Given the description of an element on the screen output the (x, y) to click on. 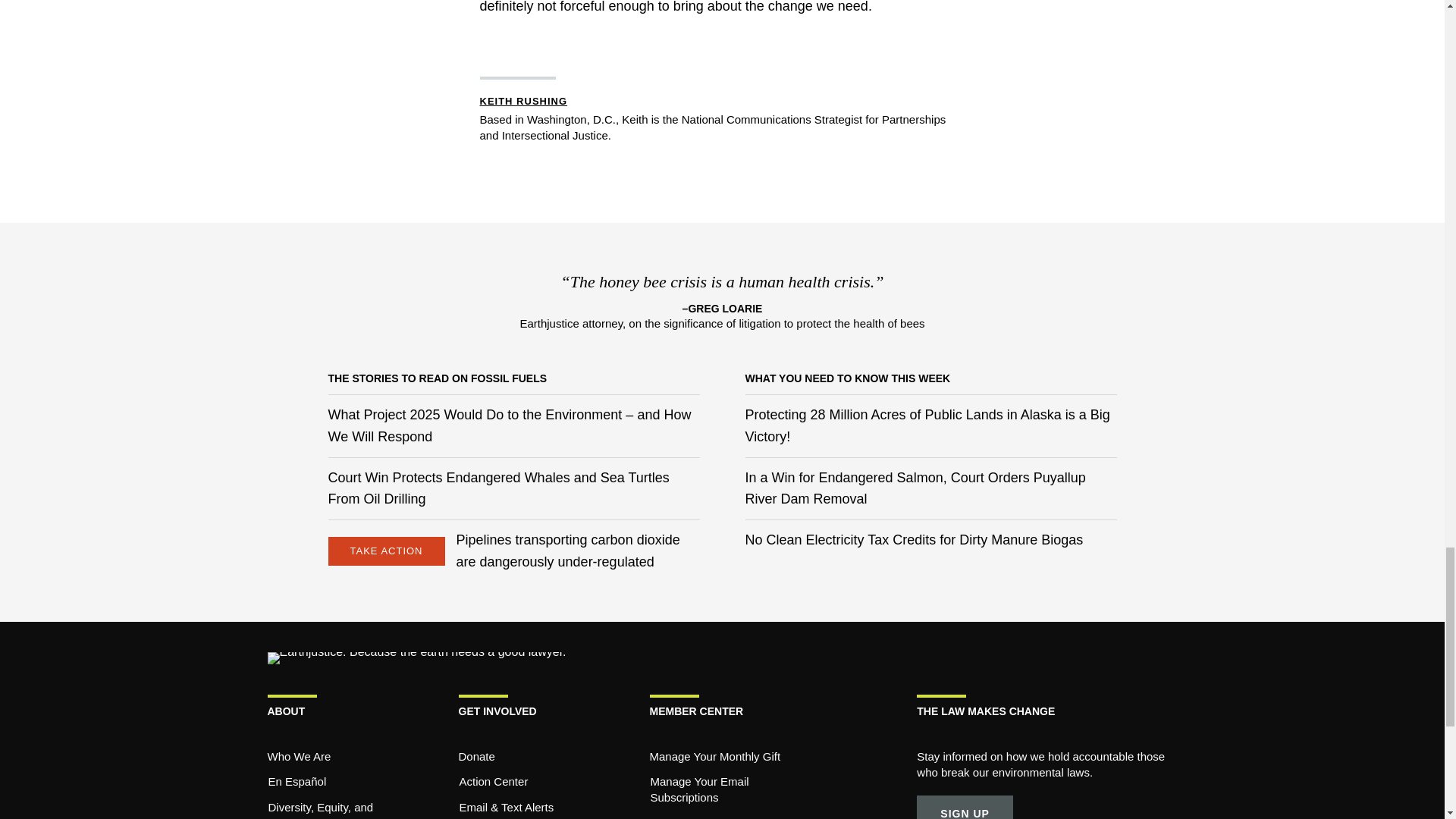
No Clean Electricity Tax Credits for Dirty Manure Biogas (913, 539)
Keith Rushing (523, 101)
